Given the description of an element on the screen output the (x, y) to click on. 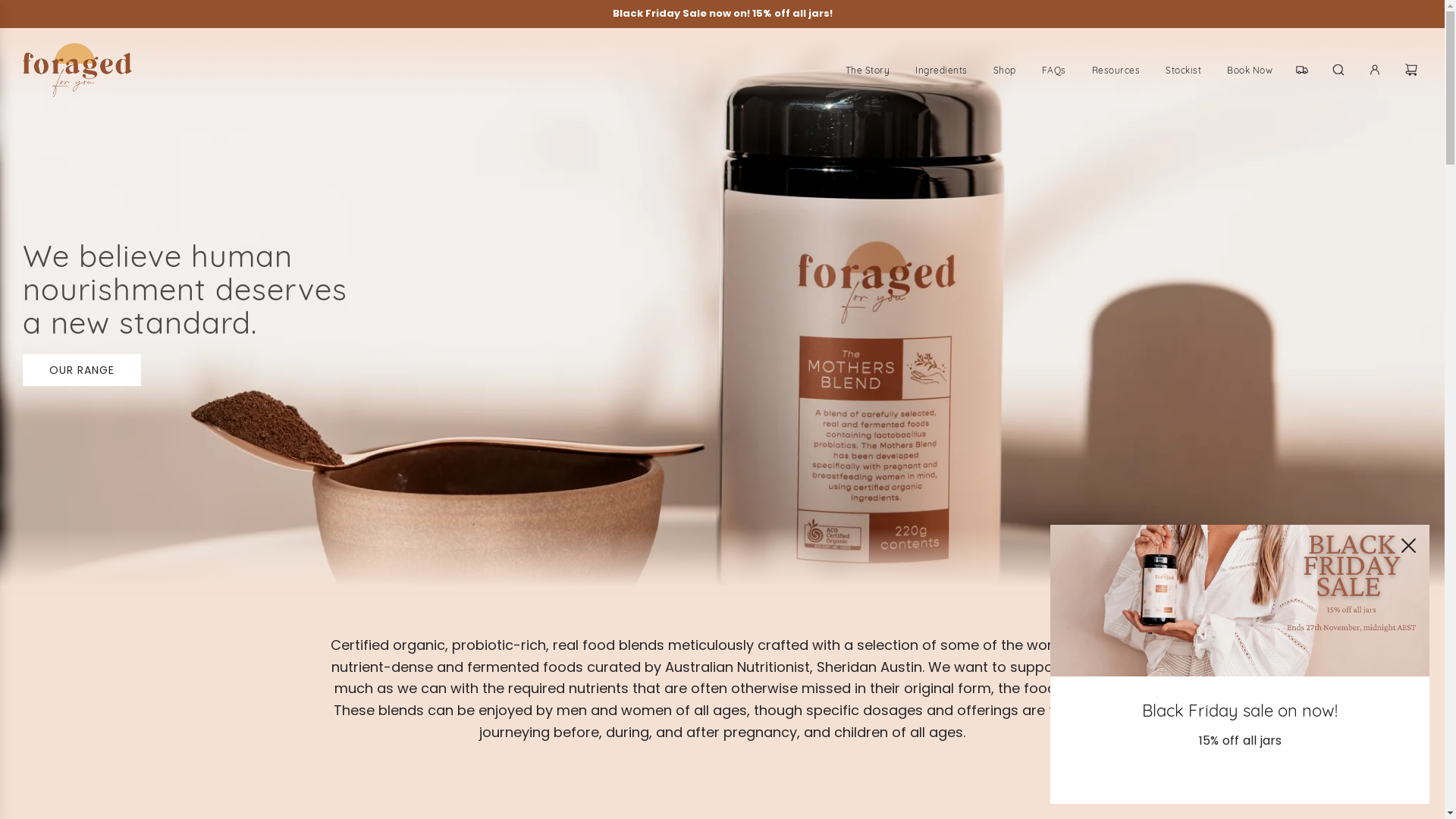
The Story Element type: text (867, 69)
Book Now Element type: text (1249, 69)
OUR RANGE Element type: text (81, 369)
Ingredients Element type: text (941, 69)
FAQs Element type: text (1052, 69)
Log in Element type: hover (1374, 69)
Shop Element type: text (1003, 69)
Resources Element type: text (1115, 69)
Stockist Element type: text (1183, 69)
